Given the description of an element on the screen output the (x, y) to click on. 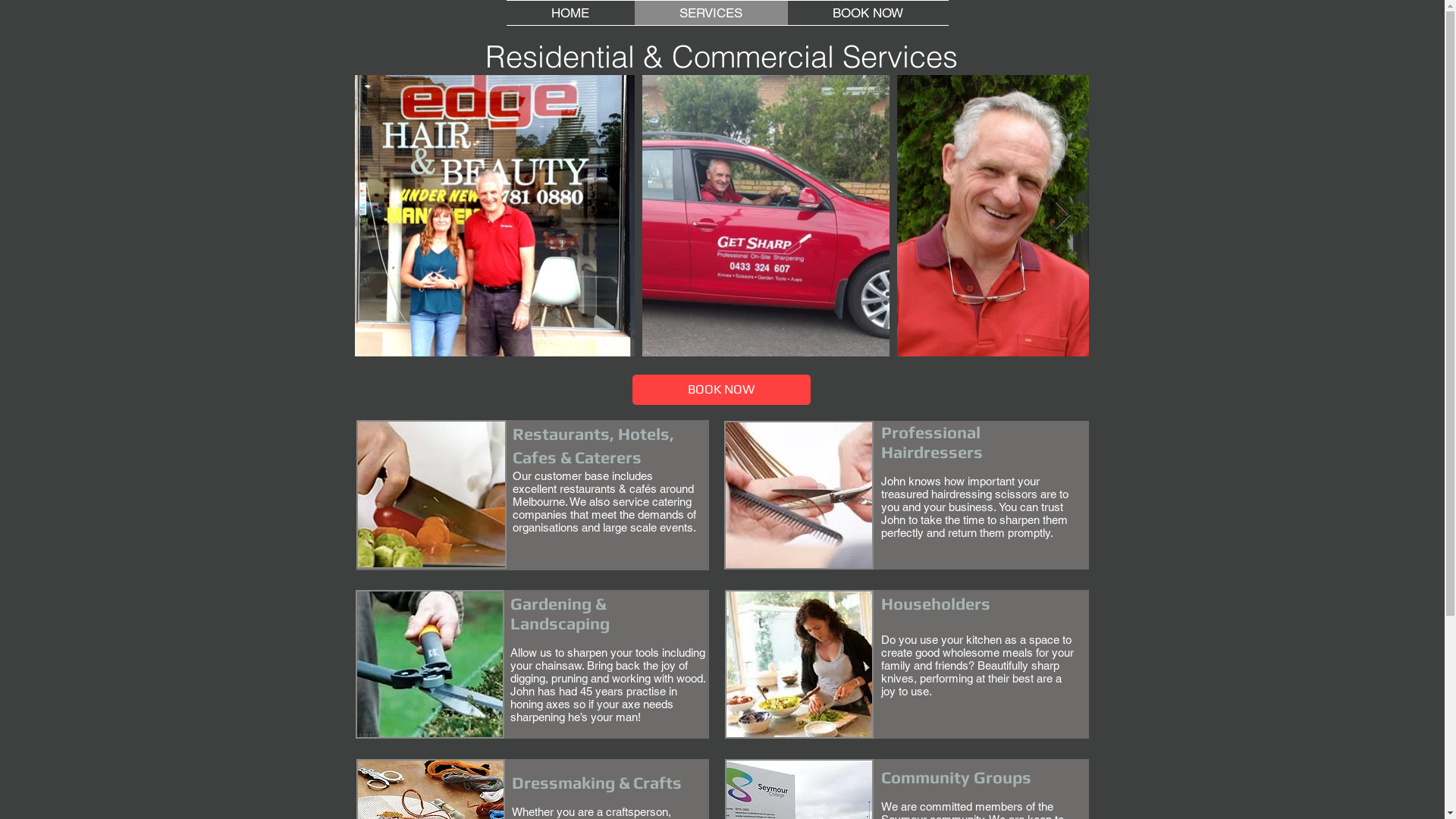
BOOK NOW Element type: text (867, 12)
HOME Element type: text (570, 12)
SERVICES Element type: text (710, 12)
BOOK NOW Element type: text (721, 389)
